Given the description of an element on the screen output the (x, y) to click on. 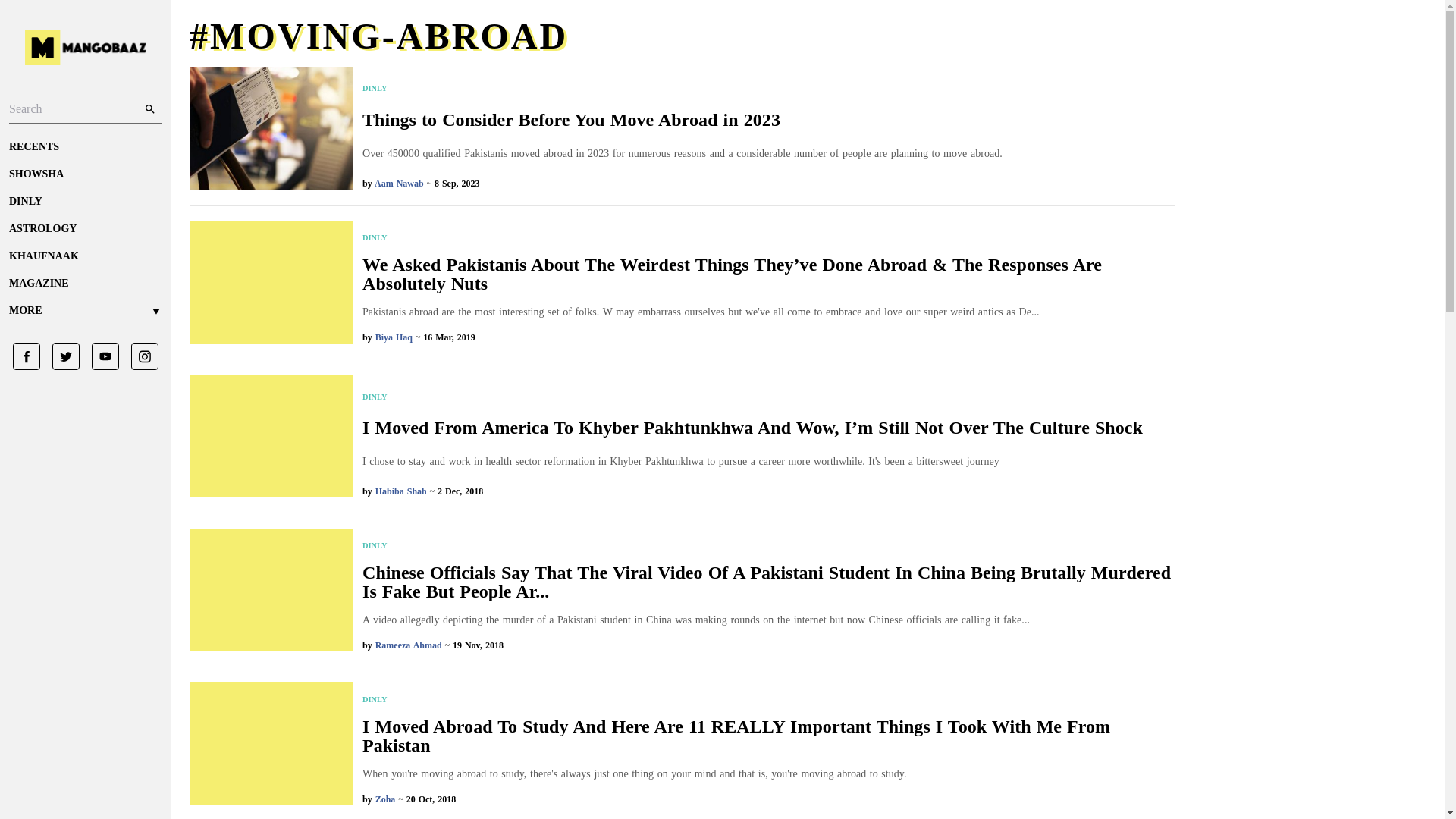
ASTROLOGY (84, 228)
Link to Twitter (60, 356)
MangoBaaz Magazine (84, 283)
SHOWSHA (84, 174)
Link to Facebook (26, 356)
MORE (84, 310)
Biya Haq (393, 337)
DINLY (768, 237)
Link to Instagram (138, 356)
Aam Nawab (398, 183)
MAGAZINE (84, 283)
DINLY (752, 397)
DINLY (84, 201)
RECENTS (84, 146)
DINLY (682, 88)
